Given the description of an element on the screen output the (x, y) to click on. 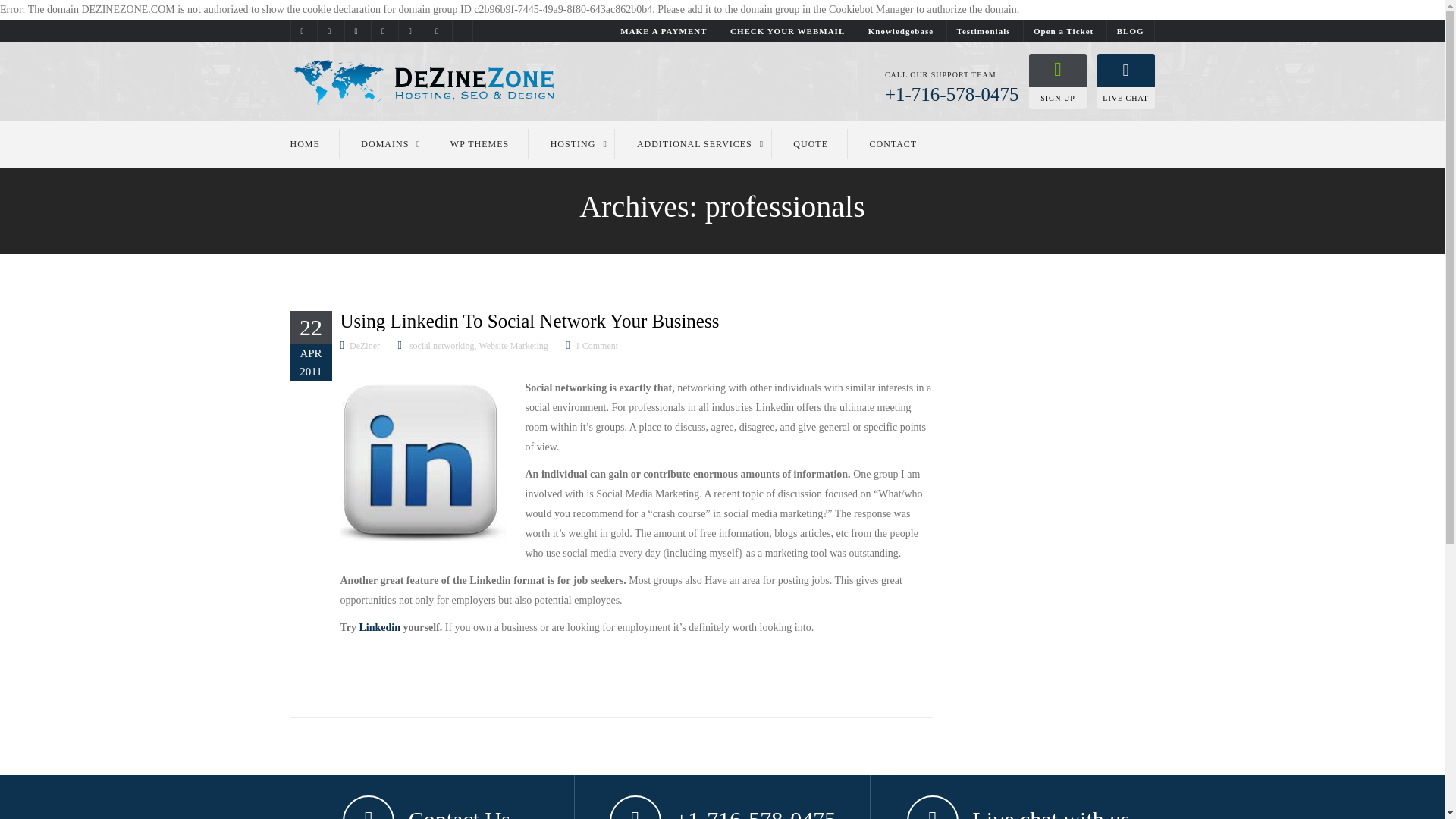
Quote (810, 143)
Open a Ticket (1063, 31)
Home (314, 143)
linkedin-logo (422, 462)
HOSTING (573, 143)
CHECK YOUR WEBMAIL (787, 31)
Knowledgebase (901, 31)
Linkedin for social networking (379, 627)
Hosting (573, 143)
Additional Services (694, 143)
